Given the description of an element on the screen output the (x, y) to click on. 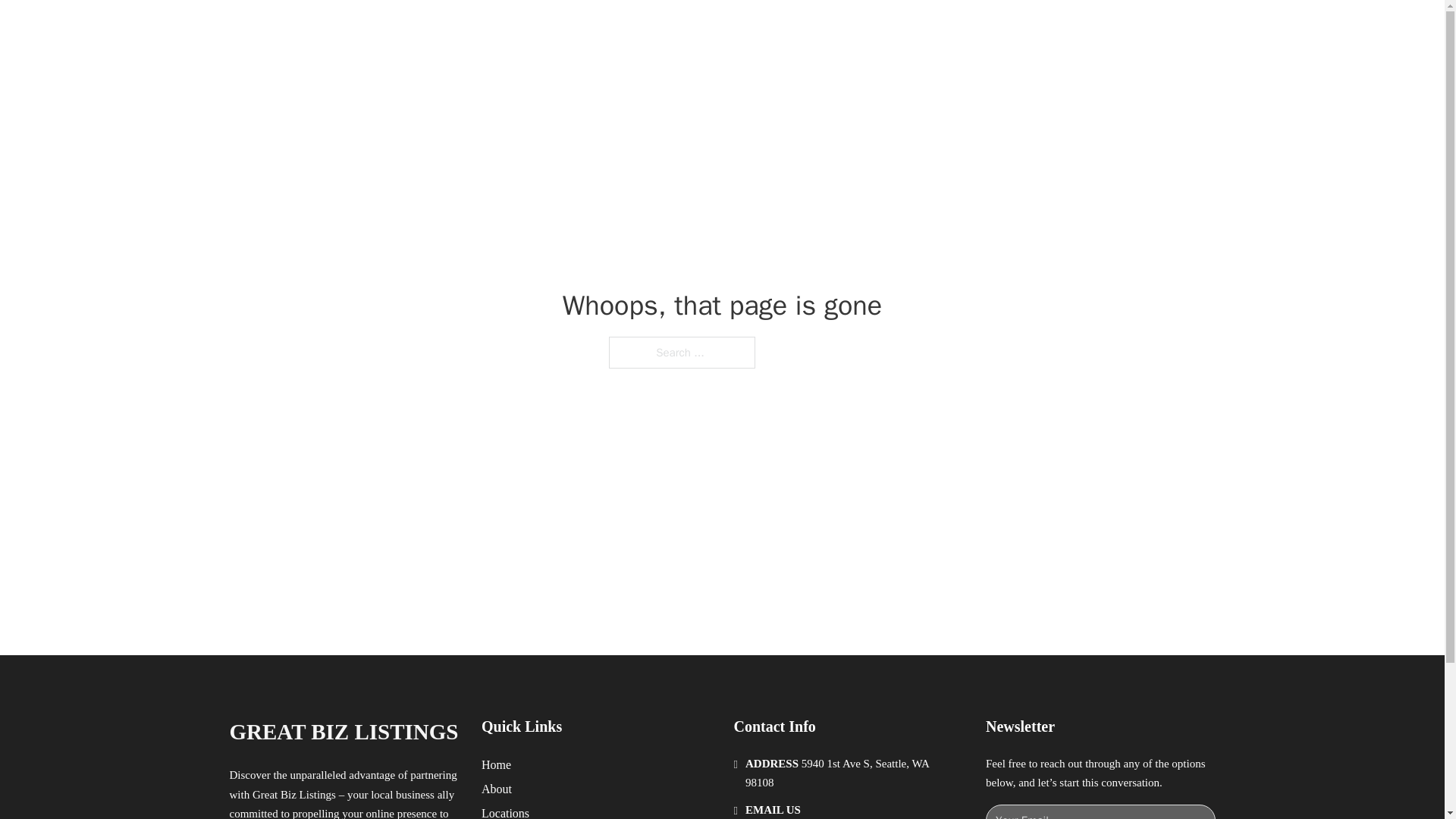
Home (496, 764)
About (496, 788)
Locations (505, 811)
GREAT BIZ LISTINGS (411, 28)
GREAT BIZ LISTINGS (343, 732)
HOME (919, 29)
LOCATIONS (990, 29)
